Given the description of an element on the screen output the (x, y) to click on. 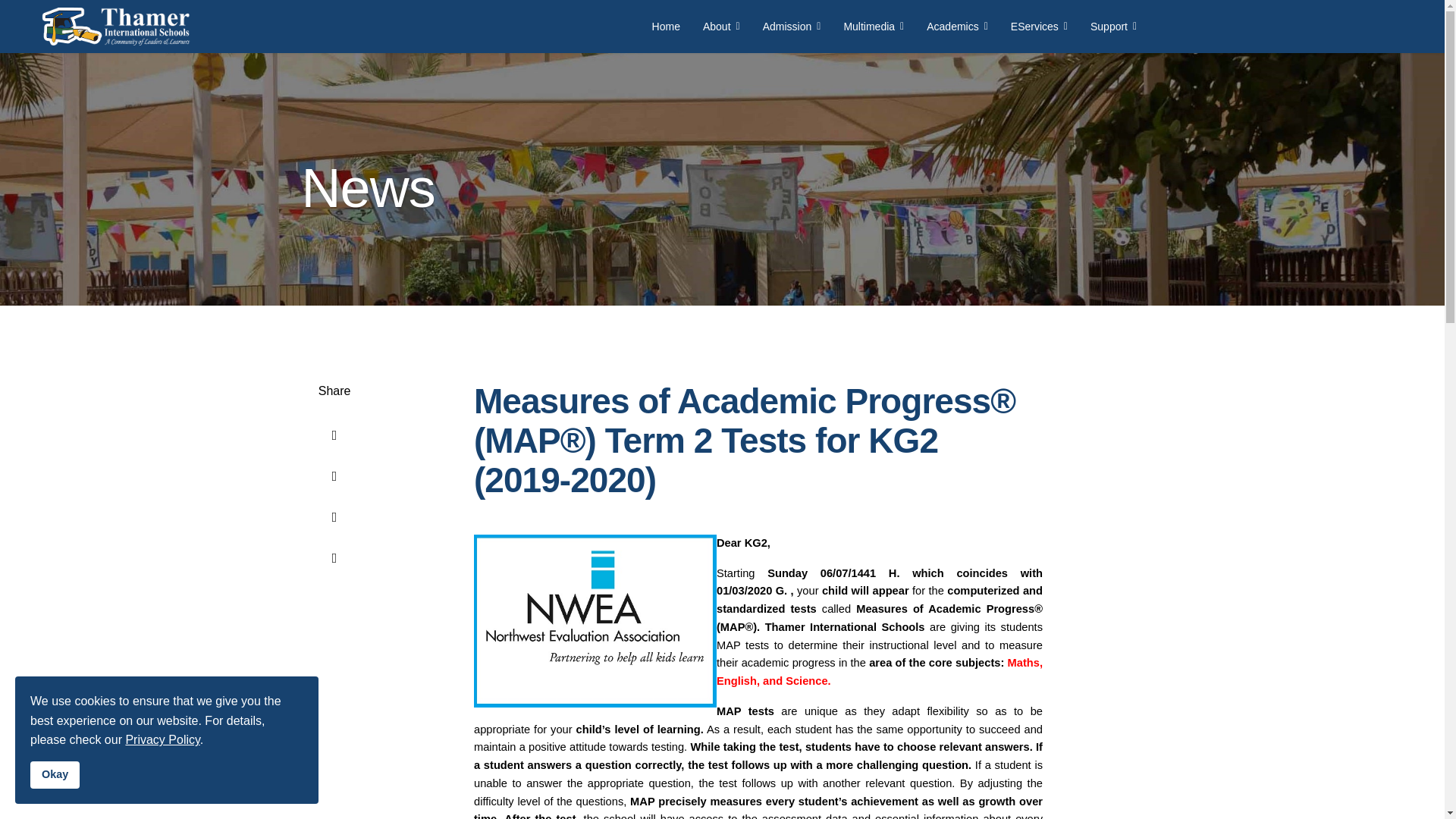
Admission (791, 26)
About (721, 26)
Home (665, 26)
